Given the description of an element on the screen output the (x, y) to click on. 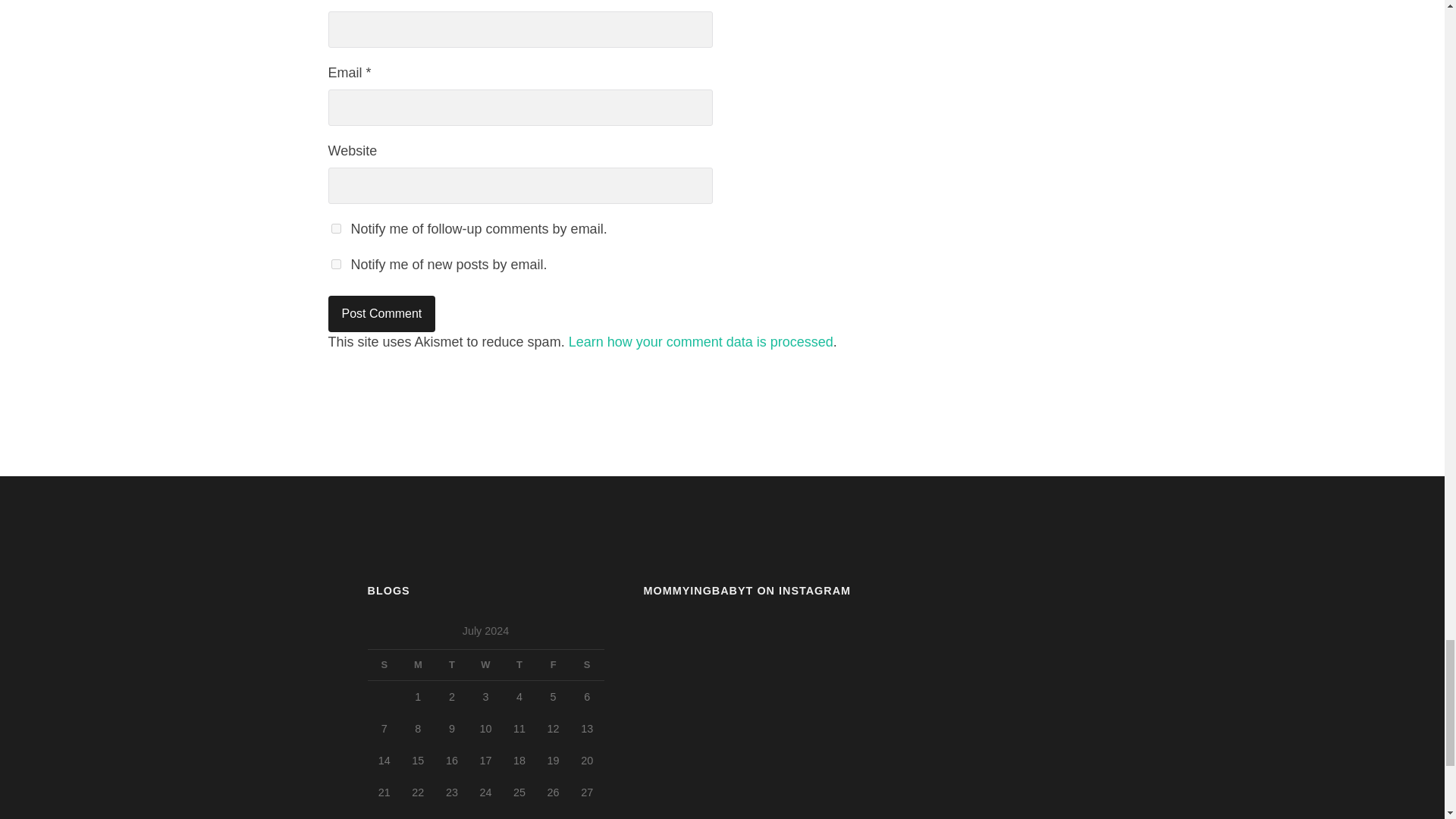
Sunday (383, 665)
subscribe (335, 264)
subscribe (335, 228)
Friday (552, 665)
Wednesday (485, 665)
Tuesday (451, 665)
Monday (418, 665)
Post Comment (381, 313)
Thursday (519, 665)
